Given the description of an element on the screen output the (x, y) to click on. 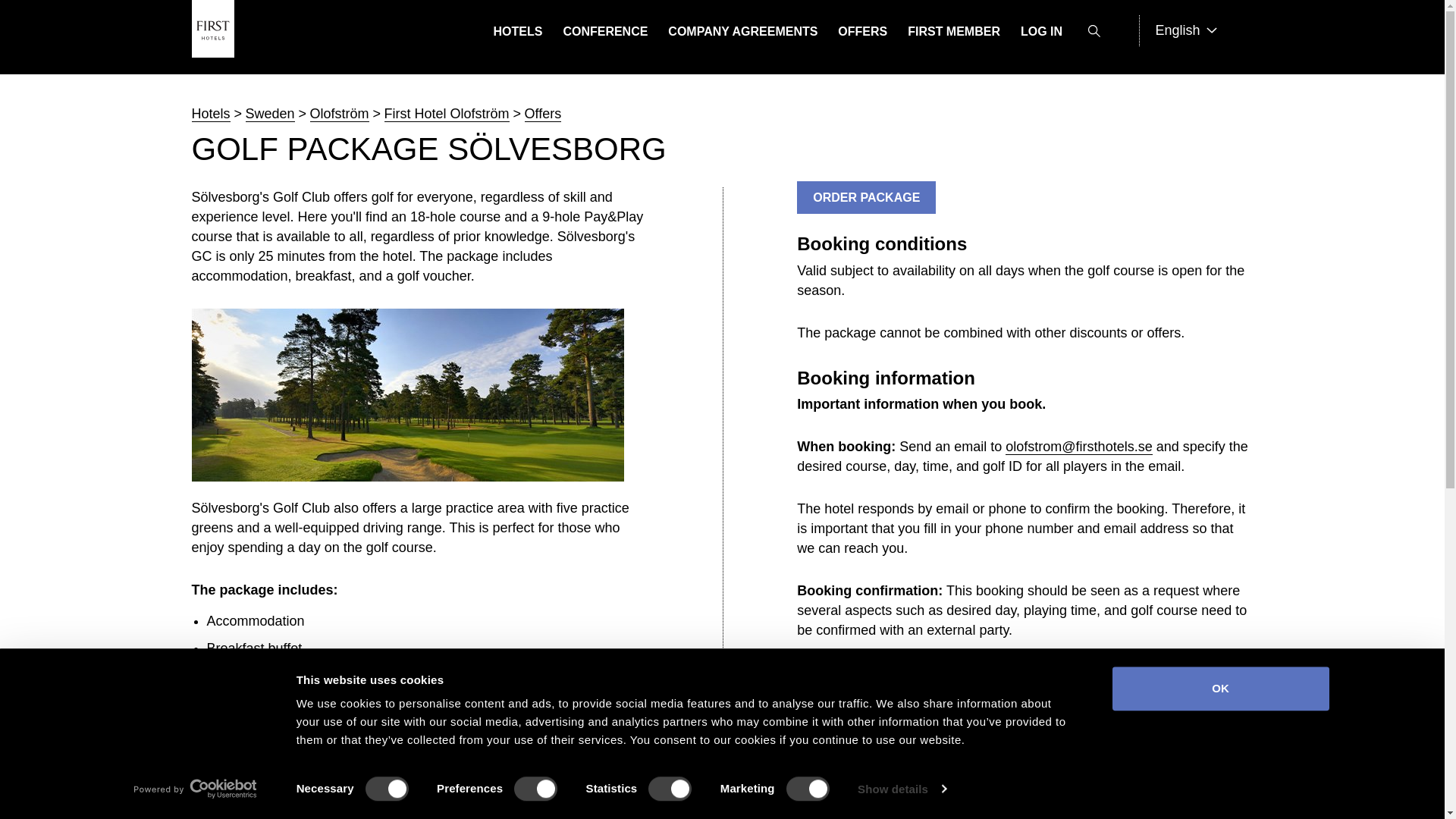
Show details (900, 789)
